Given the description of an element on the screen output the (x, y) to click on. 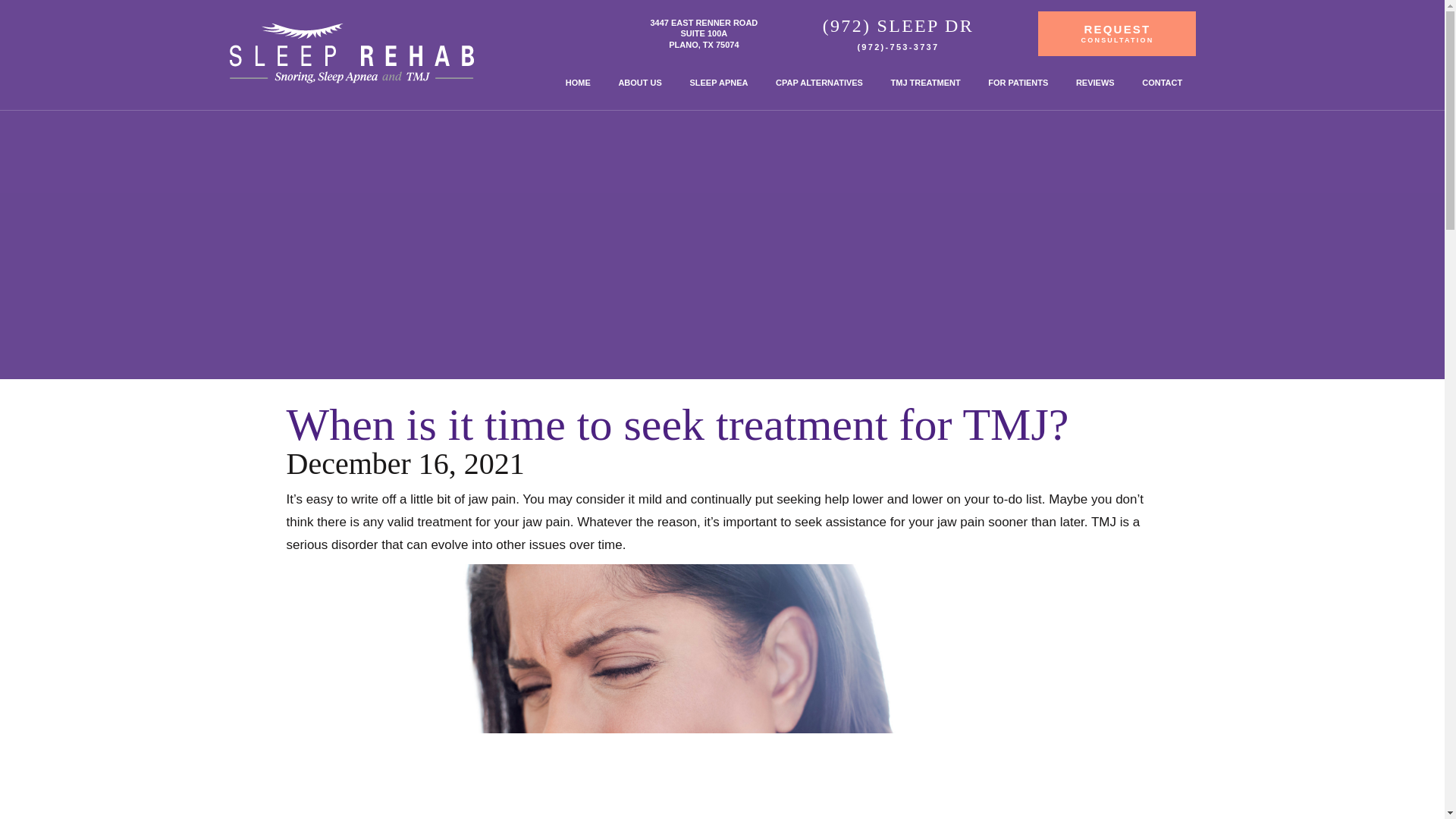
TMJ TREATMENT (925, 83)
ABOUT US (639, 83)
FOR PATIENTS (704, 33)
CONTACT (1018, 83)
HOME (1162, 83)
REVIEWS (1116, 33)
SLEEP APNEA (578, 83)
CPAP ALTERNATIVES (1095, 83)
